Given the description of an element on the screen output the (x, y) to click on. 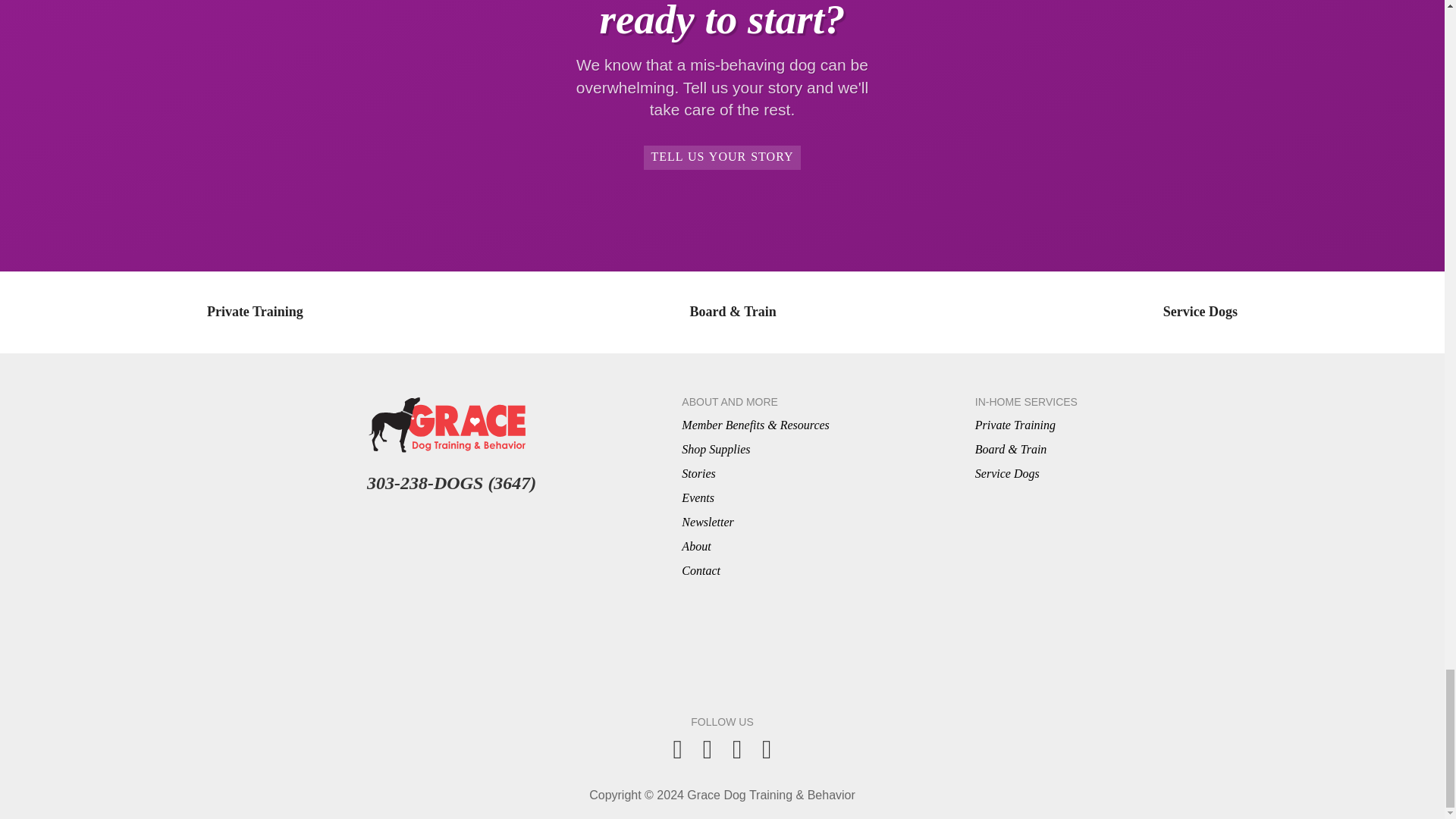
Stories (697, 472)
Private Training (1015, 424)
Newsletter (707, 521)
Service Dogs (1007, 472)
Events (697, 497)
Shop Supplies (715, 449)
About (695, 545)
Contact (700, 569)
Private Training (254, 311)
TELL US YOUR STORY (721, 157)
